Given the description of an element on the screen output the (x, y) to click on. 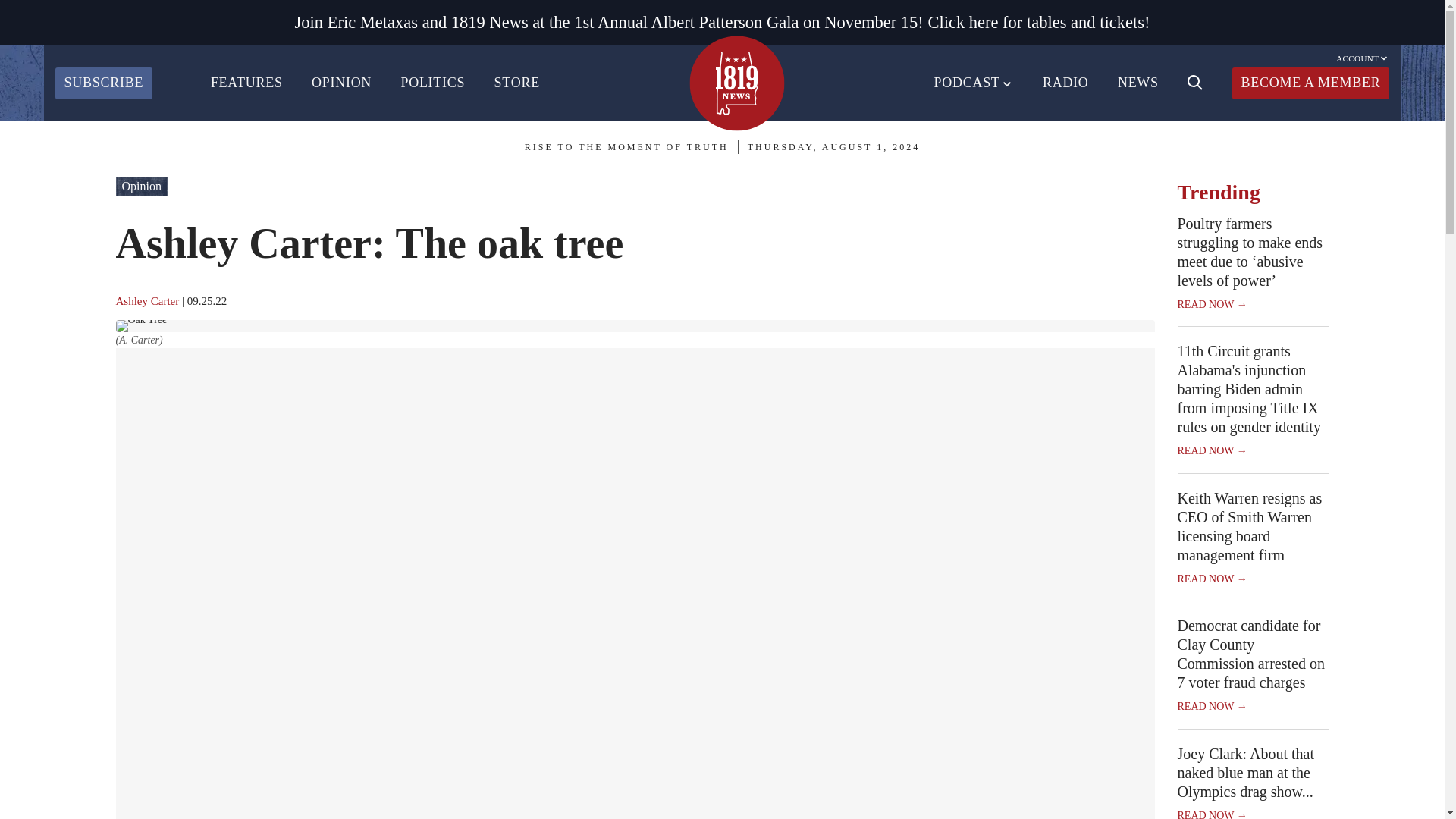
HOMEPAGE (736, 83)
STORE (517, 83)
SUBSCRIBE (103, 83)
OPINION (341, 83)
POLITICS (432, 83)
NEWS (1138, 83)
Opinion (141, 186)
PODCAST (973, 83)
FEATURES (246, 83)
RADIO (1065, 83)
Ashley Carter (147, 300)
BECOME A MEMBER (1310, 83)
